Given the description of an element on the screen output the (x, y) to click on. 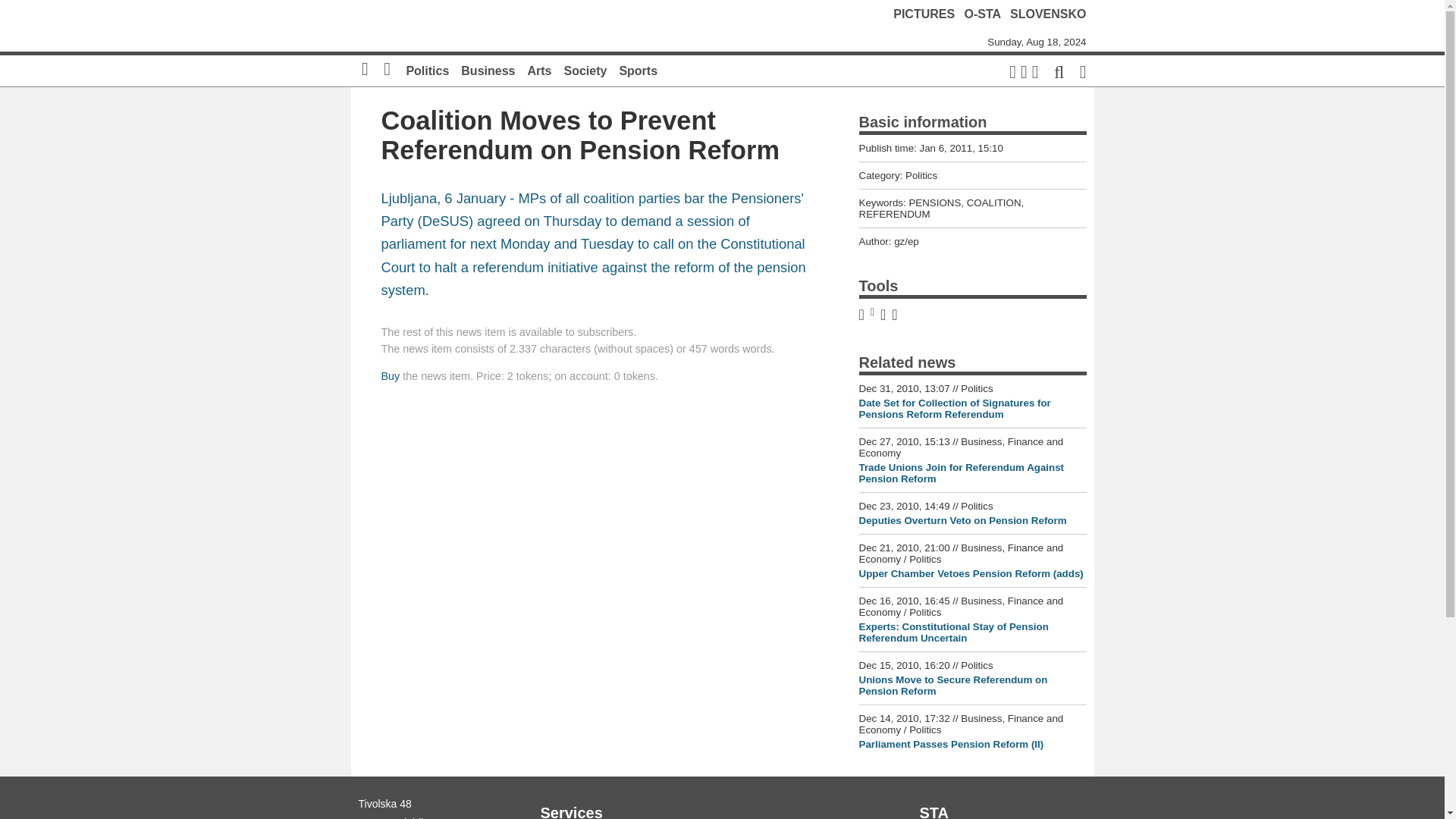
Arts (539, 70)
Business (488, 70)
PICTURES (924, 13)
O-STA (982, 13)
Buy (389, 376)
Society (585, 70)
Politics (427, 70)
Trade Unions Join for Referendum Against Pension Reform (961, 472)
Experts: Constitutional Stay of Pension Referendum Uncertain (953, 631)
